Given the description of an element on the screen output the (x, y) to click on. 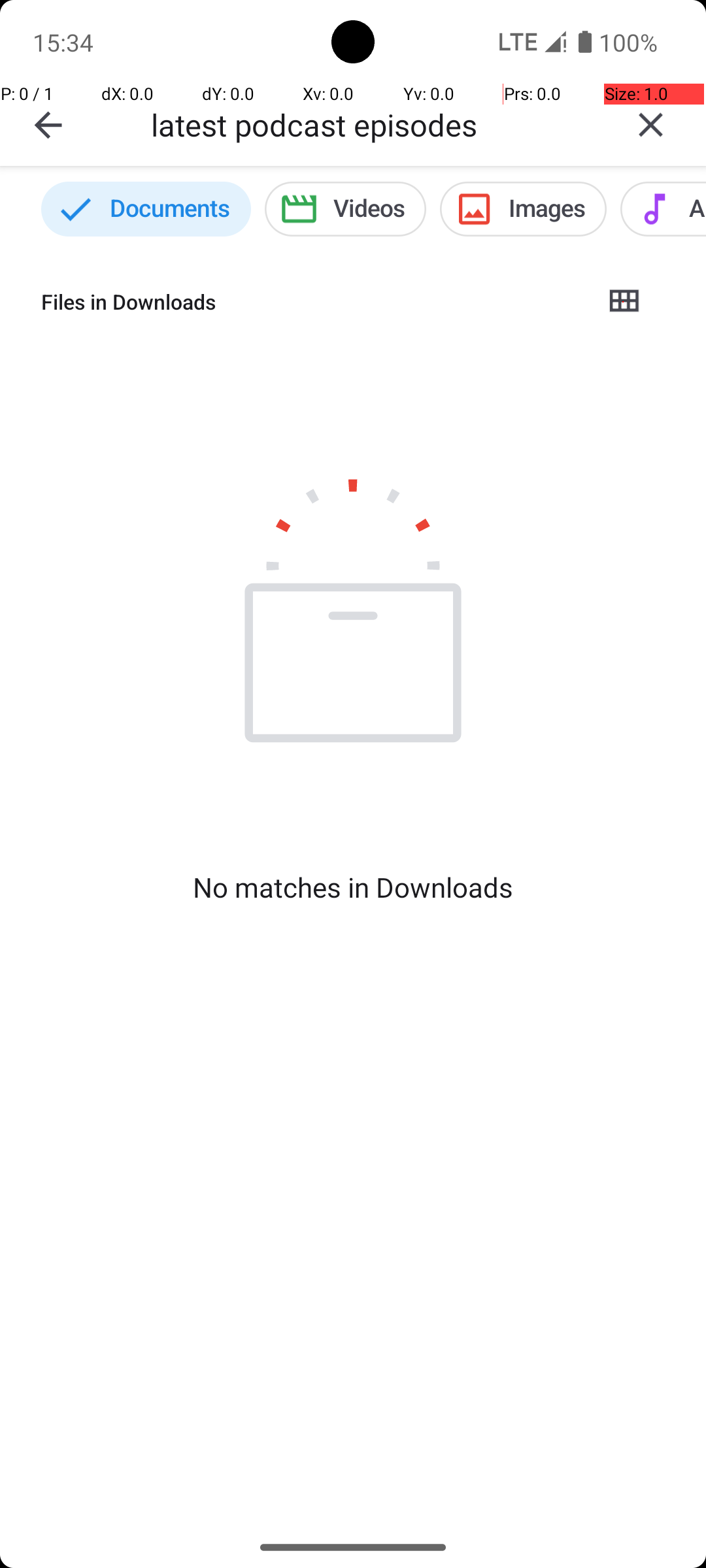
latest podcast episodes Element type: android.widget.AutoCompleteTextView (373, 124)
